Given the description of an element on the screen output the (x, y) to click on. 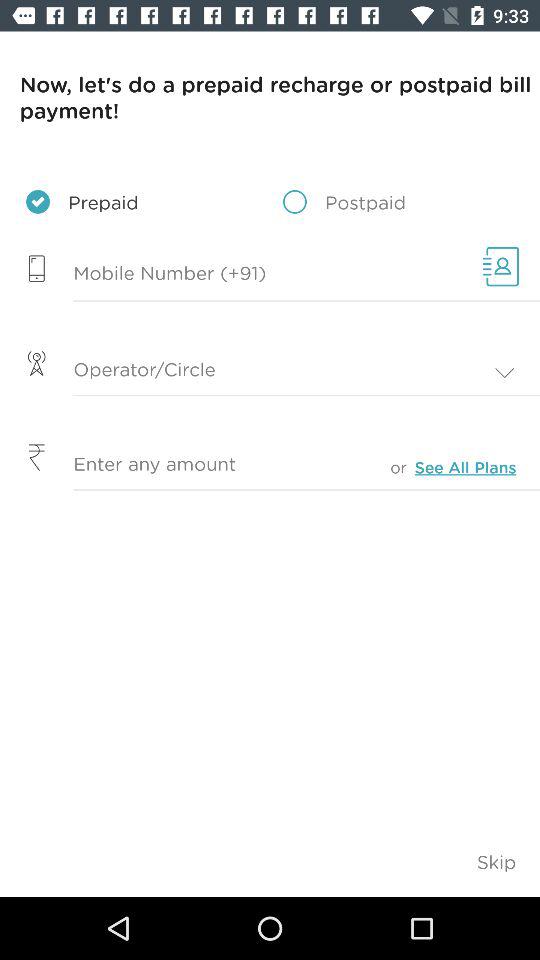
enter cell number (236, 274)
